Given the description of an element on the screen output the (x, y) to click on. 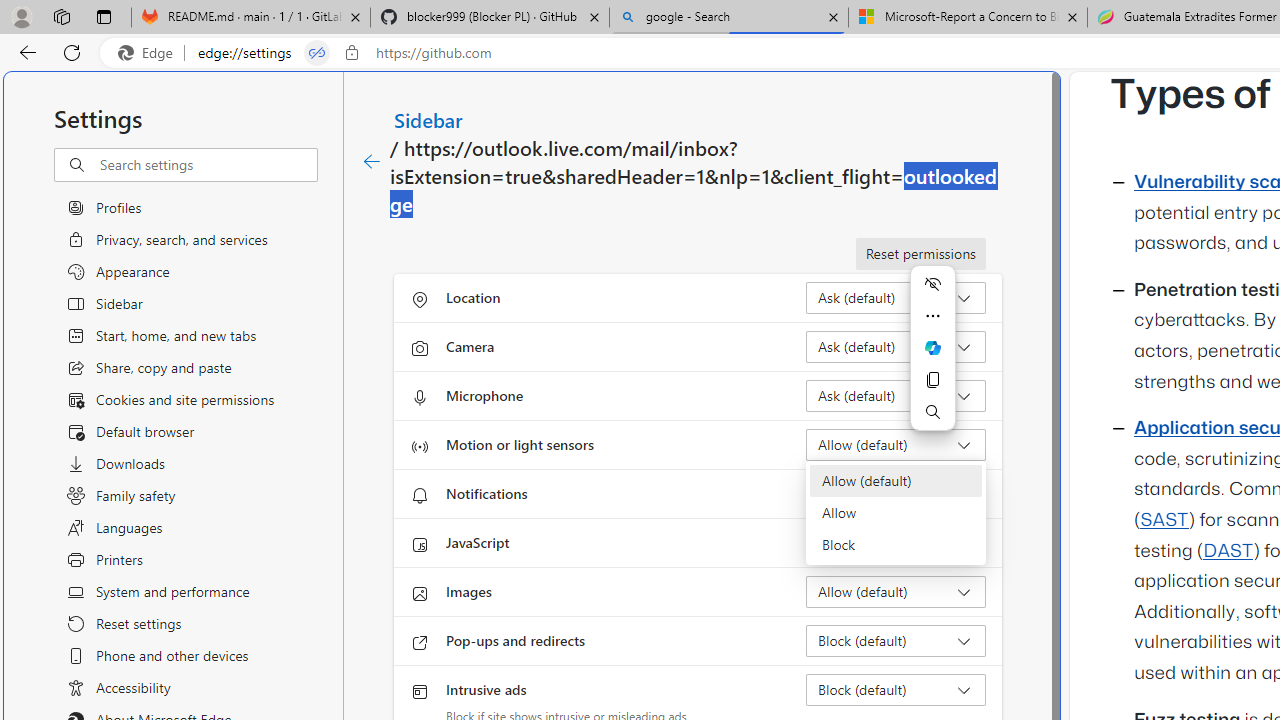
Block (895, 544)
Camera Ask (default) (895, 346)
Pop-ups and redirects Block (default) (895, 640)
More actions (932, 315)
Allow (895, 512)
Mini menu on text selection (932, 347)
Back (24, 52)
google - Search (729, 17)
Microphone Ask (default) (895, 395)
